Given the description of an element on the screen output the (x, y) to click on. 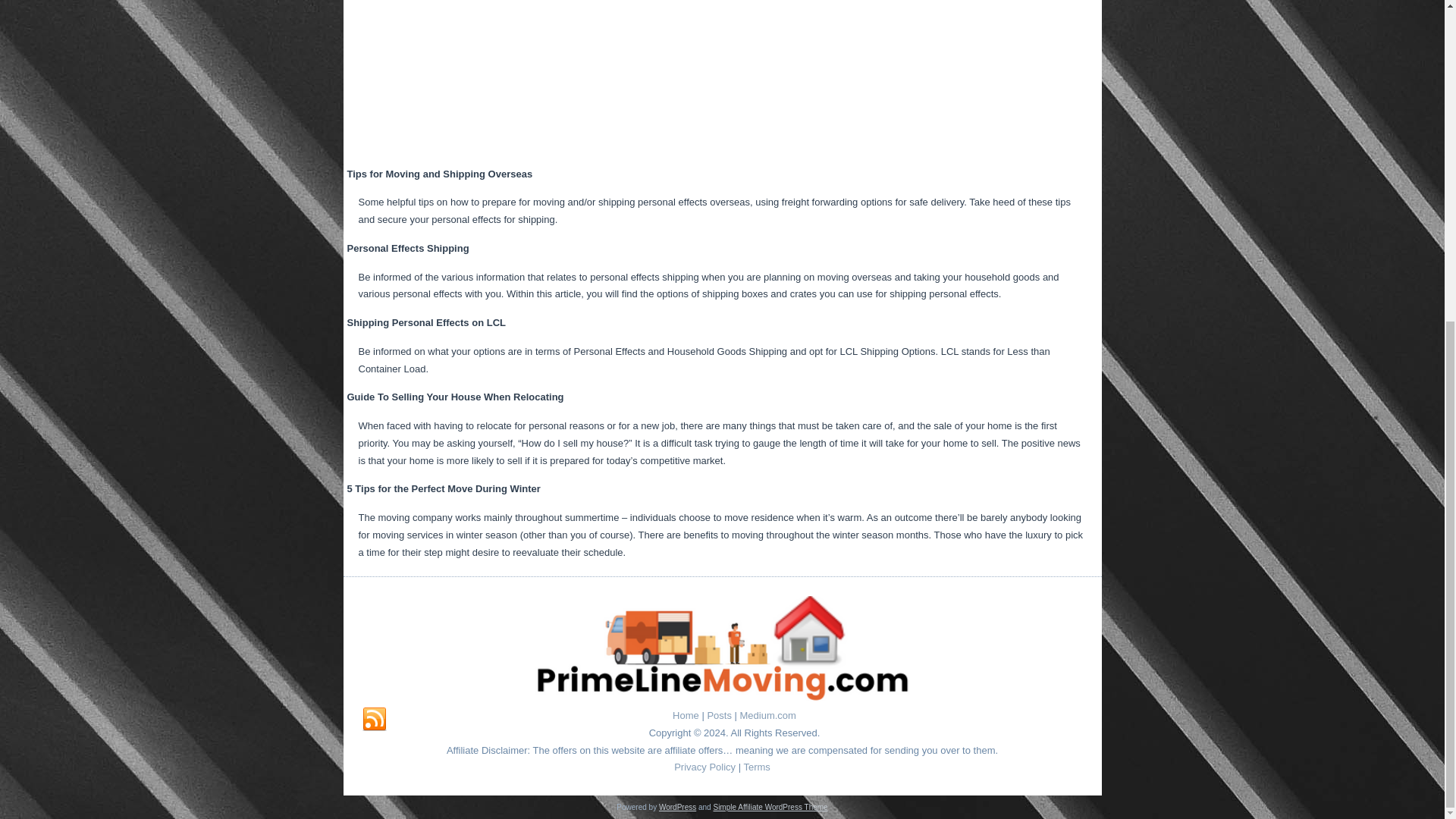
Posts (719, 715)
Terms (756, 767)
WordPress (677, 807)
Medium.com (767, 715)
Primeline Moving RSS Feed (374, 719)
Home (685, 715)
Privacy Policy (704, 767)
Simple Affiliate WordPress Theme (770, 807)
